Given the description of an element on the screen output the (x, y) to click on. 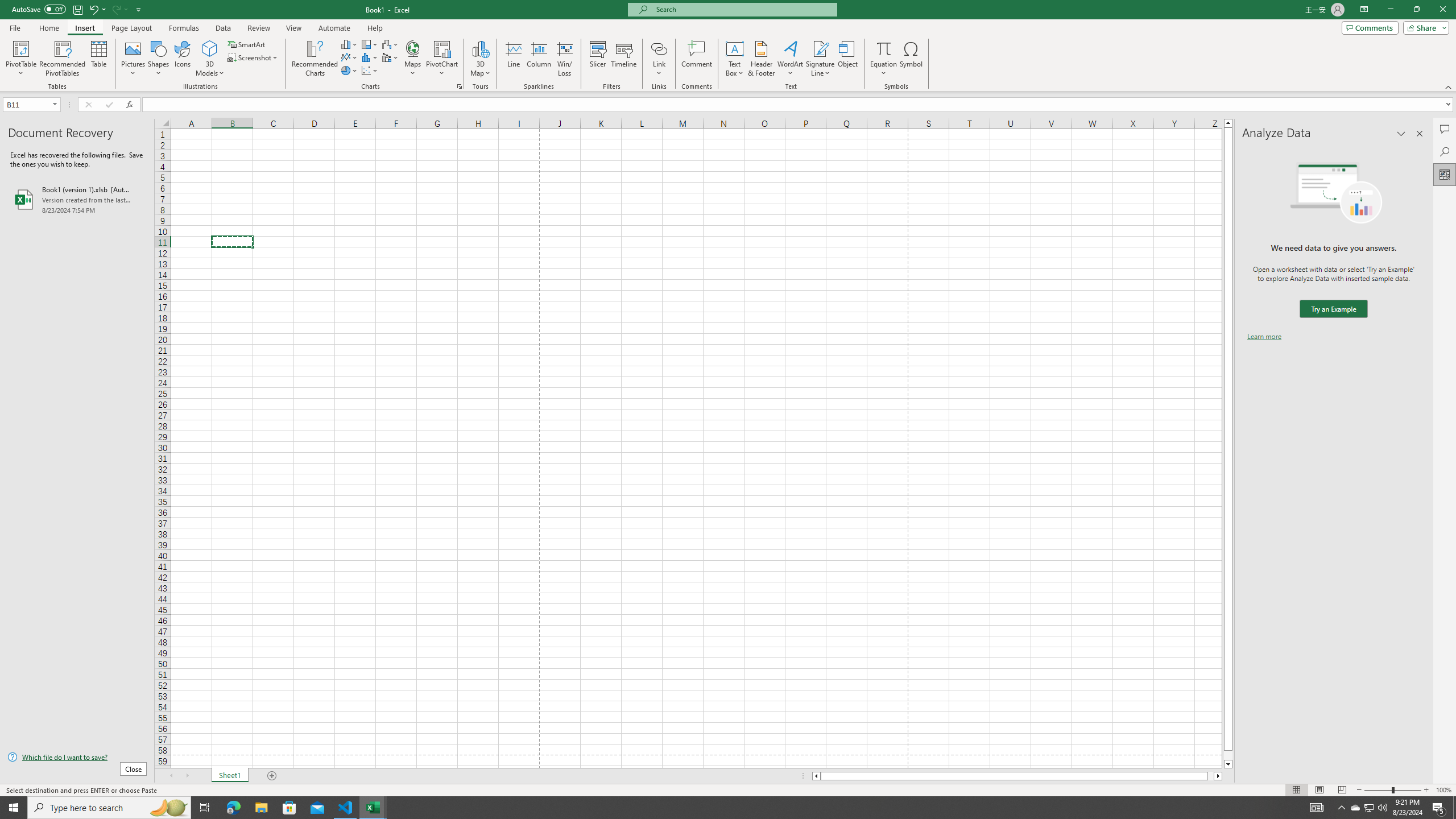
Signature Line (820, 58)
Insert Scatter (X, Y) or Bubble Chart (369, 69)
Signature Line (820, 48)
Draw Horizontal Text Box (734, 48)
Insert Waterfall, Funnel, Stock, Surface, or Radar Chart (390, 44)
PivotChart (442, 48)
Learn more (1264, 336)
